Given the description of an element on the screen output the (x, y) to click on. 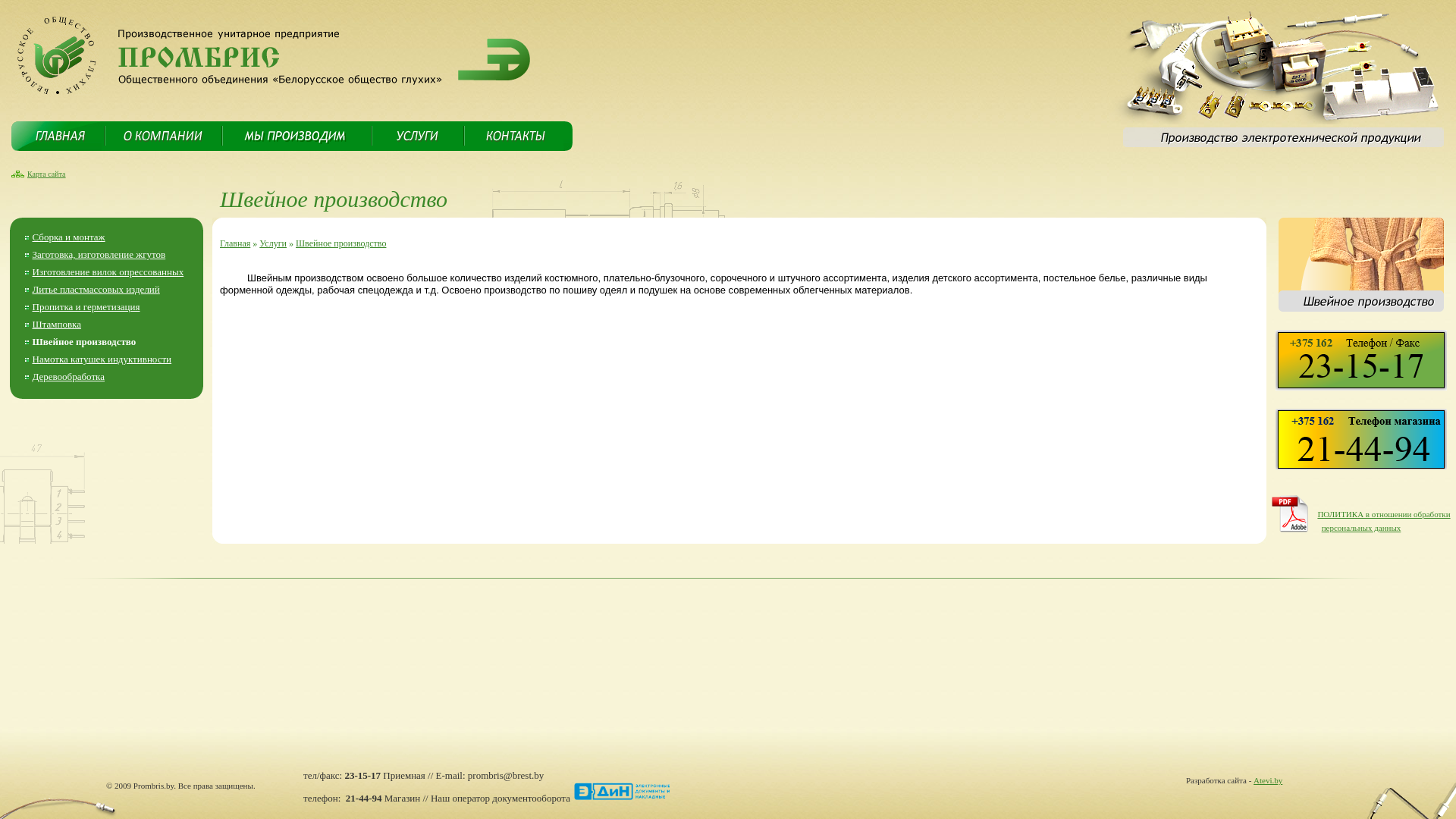
Atevi.by Element type: text (1267, 779)
edn.png Element type: hover (621, 791)
